Given the description of an element on the screen output the (x, y) to click on. 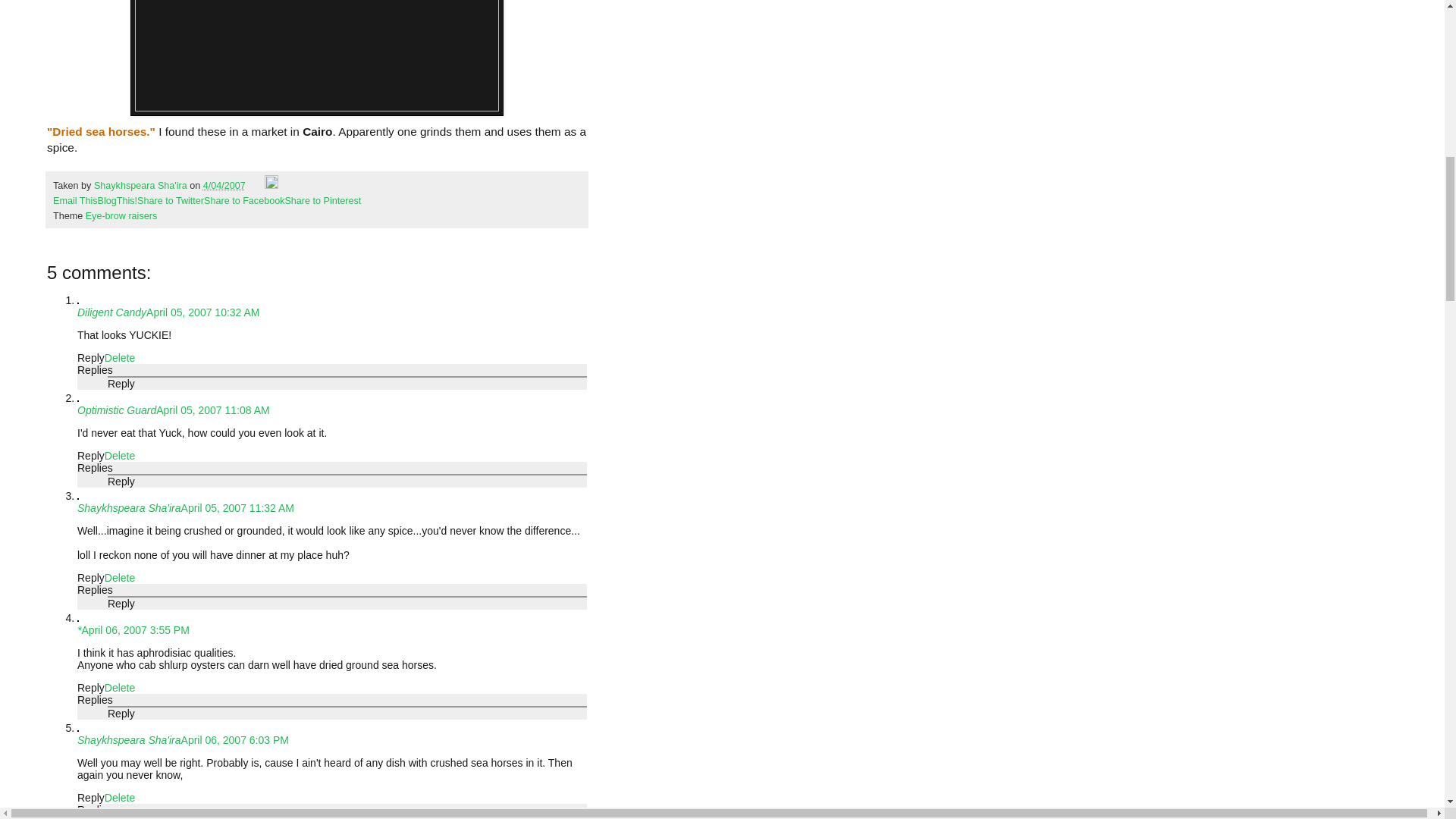
Reply (90, 455)
April 05, 2007 10:32 AM (203, 312)
Replies (95, 467)
Diligent Candy (112, 312)
Share to Twitter (169, 200)
Reply (90, 357)
Reply (90, 577)
Share to Facebook (243, 200)
Email This (74, 200)
Replies (95, 589)
Delete (119, 455)
Share to Pinterest (322, 200)
Eye-brow raisers (121, 215)
BlogThis! (117, 200)
April 06, 2007 3:55 PM (135, 630)
